Given the description of an element on the screen output the (x, y) to click on. 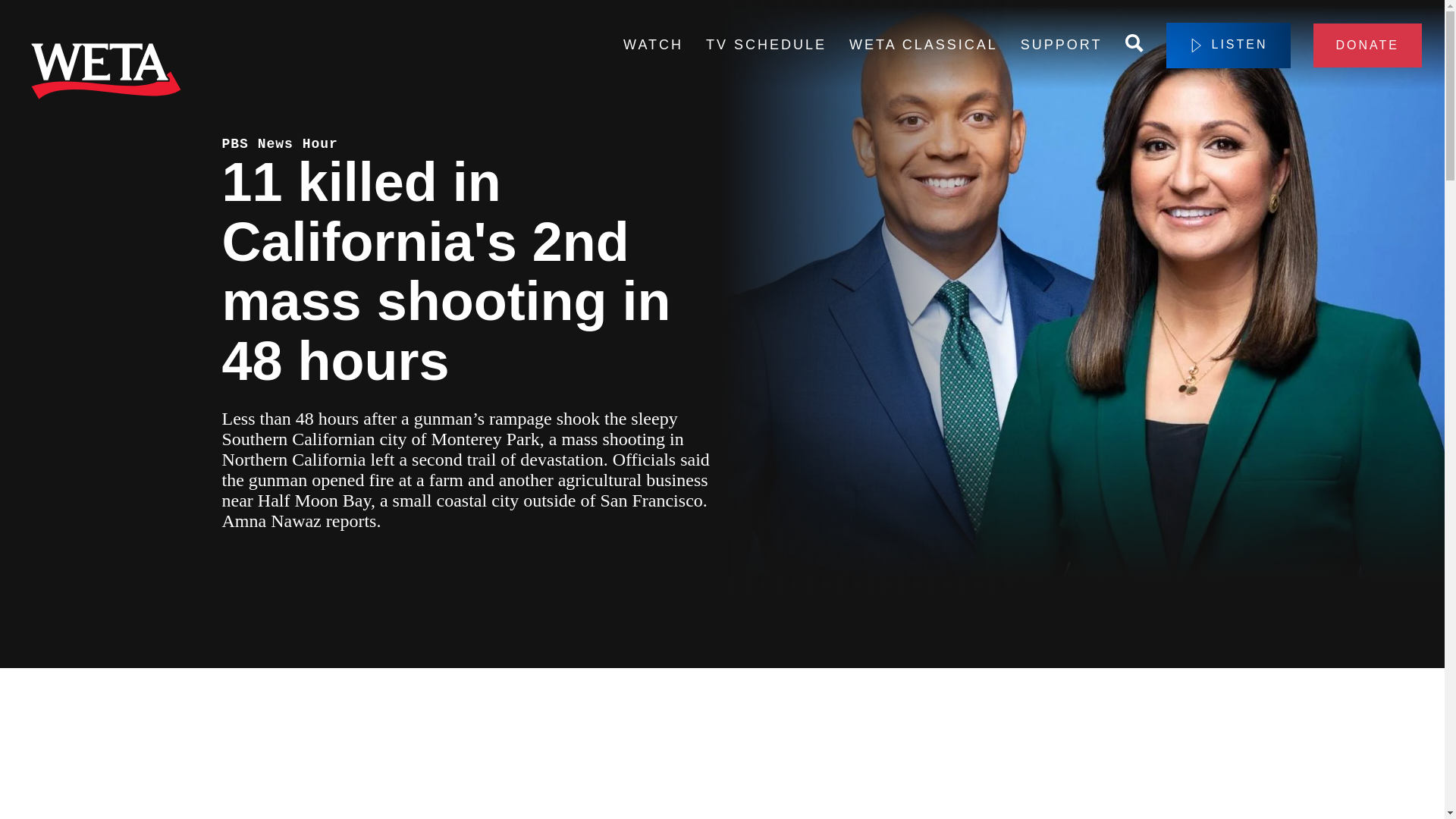
WATCH (652, 45)
Home (106, 73)
LISTEN (1228, 44)
DONATE (1367, 45)
WETA CLASSICAL (922, 45)
SUPPORT (1061, 45)
Search (1133, 45)
TV SCHEDULE (766, 45)
PBS News Hour (279, 143)
